Given the description of an element on the screen output the (x, y) to click on. 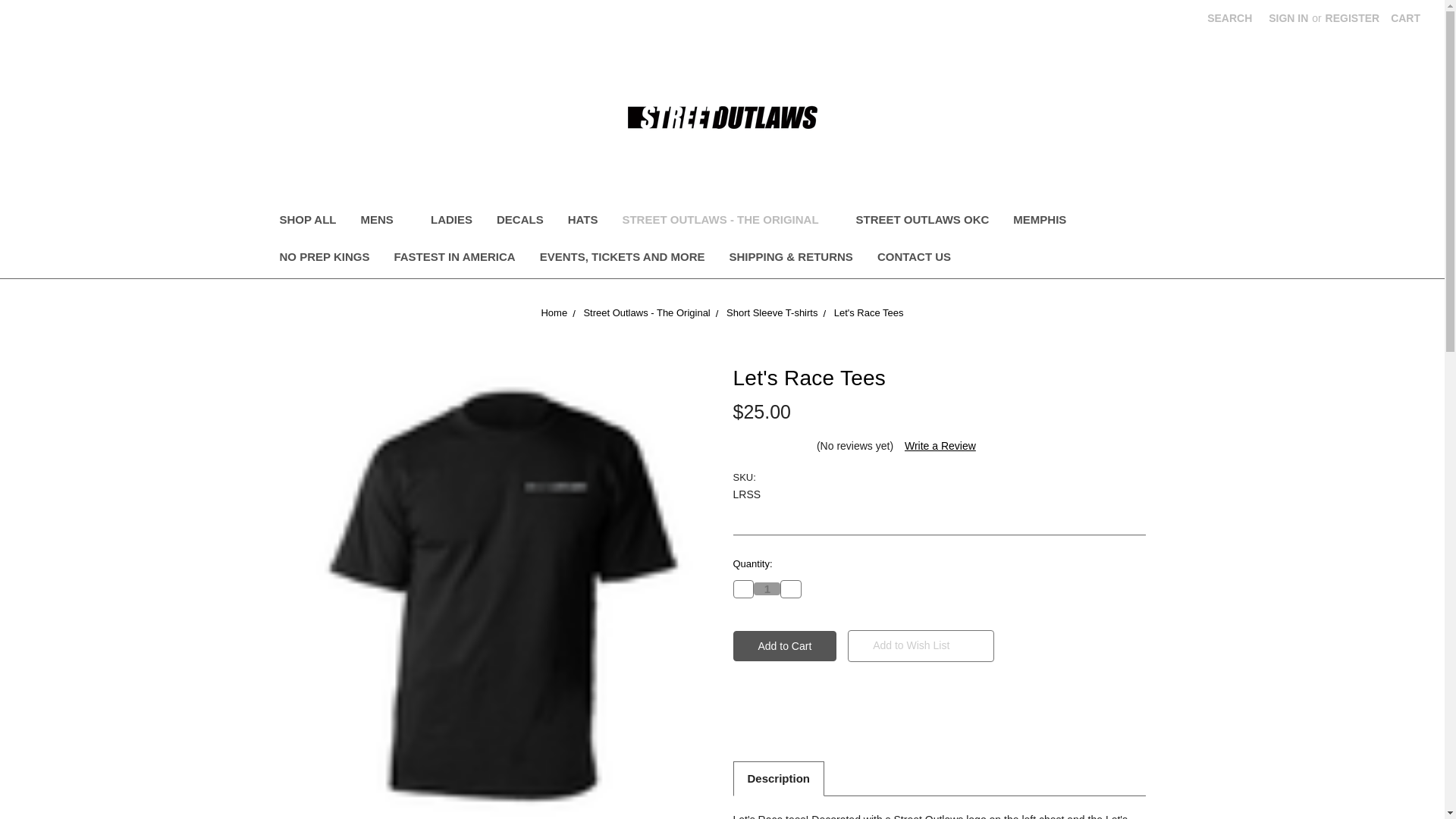
DECALS (520, 221)
FASTEST IN AMERICA (454, 258)
Add to Cart (783, 645)
CART (1404, 18)
EVENTS, TICKETS AND MORE (622, 258)
Street Outlaws - The Original (646, 312)
Short Sleeve T-shirts (771, 312)
SIGN IN (1288, 18)
CONTACT US (913, 258)
SEARCH (1229, 18)
